Given the description of an element on the screen output the (x, y) to click on. 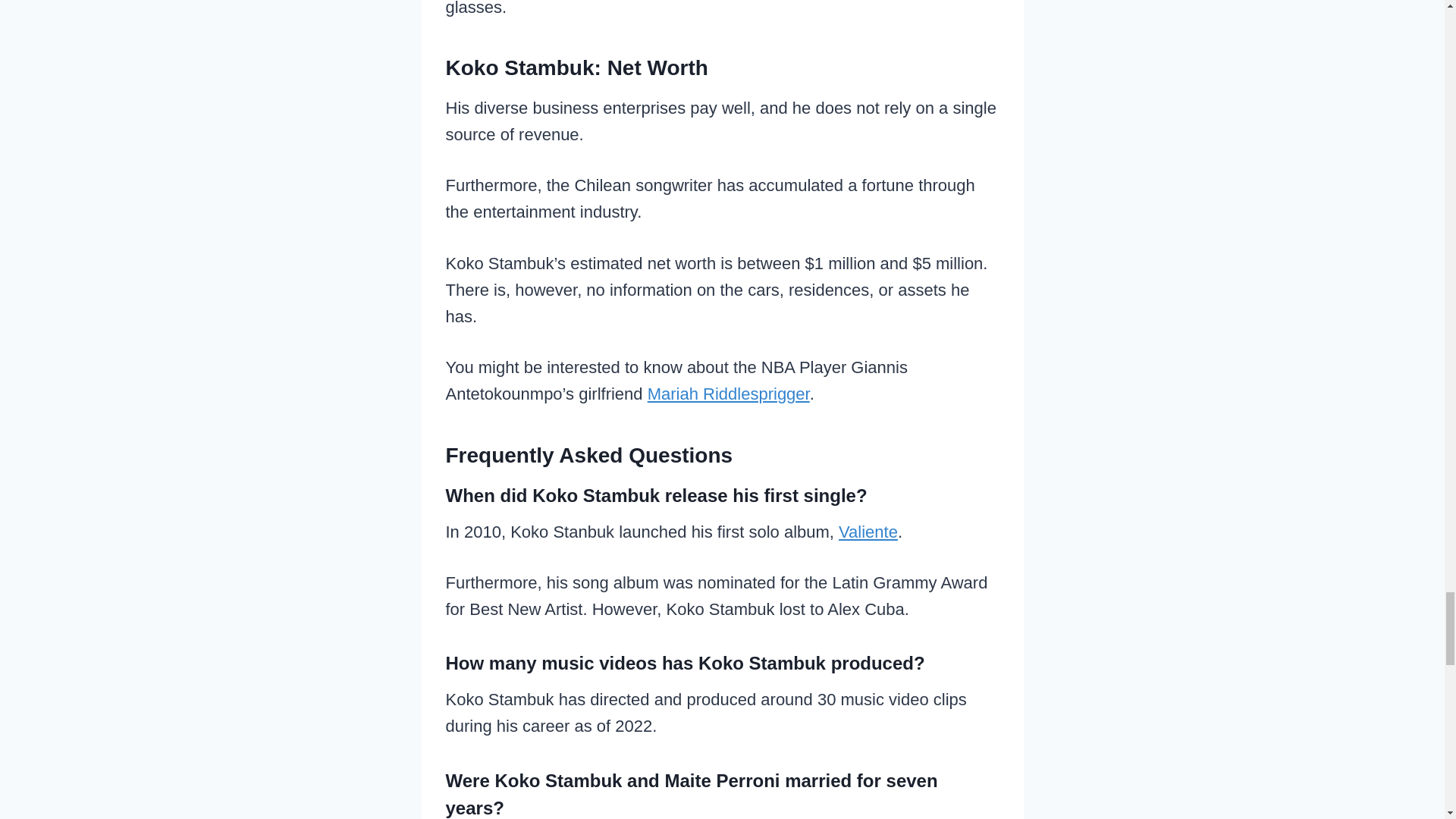
Mariah Riddlesprigger (728, 393)
Valiente (868, 531)
